Given the description of an element on the screen output the (x, y) to click on. 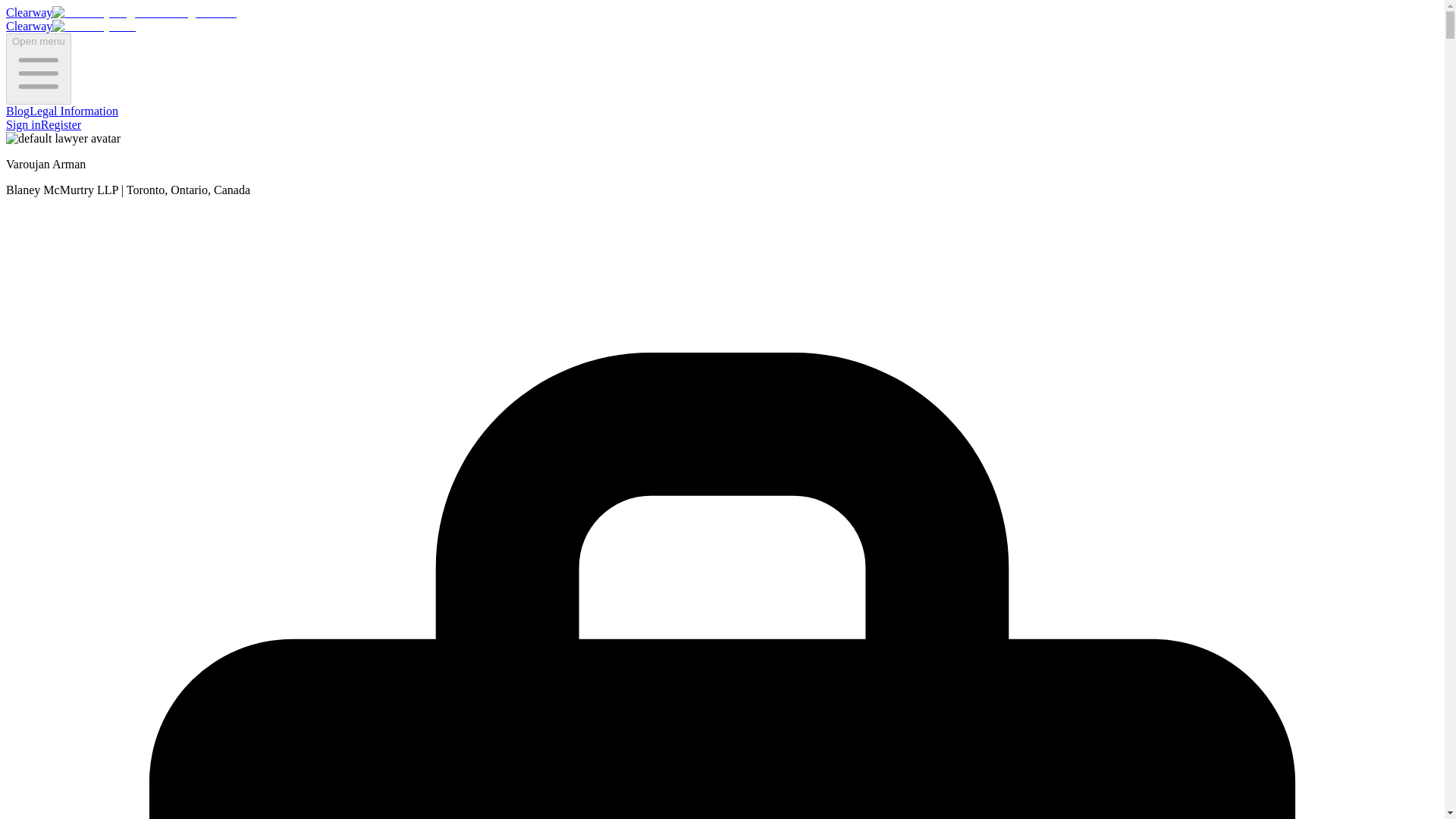
Register (60, 124)
Clearway (120, 11)
Legal Information (73, 110)
Open menu (38, 68)
Sign in (22, 124)
Clearway (70, 25)
Blog (17, 110)
